Given the description of an element on the screen output the (x, y) to click on. 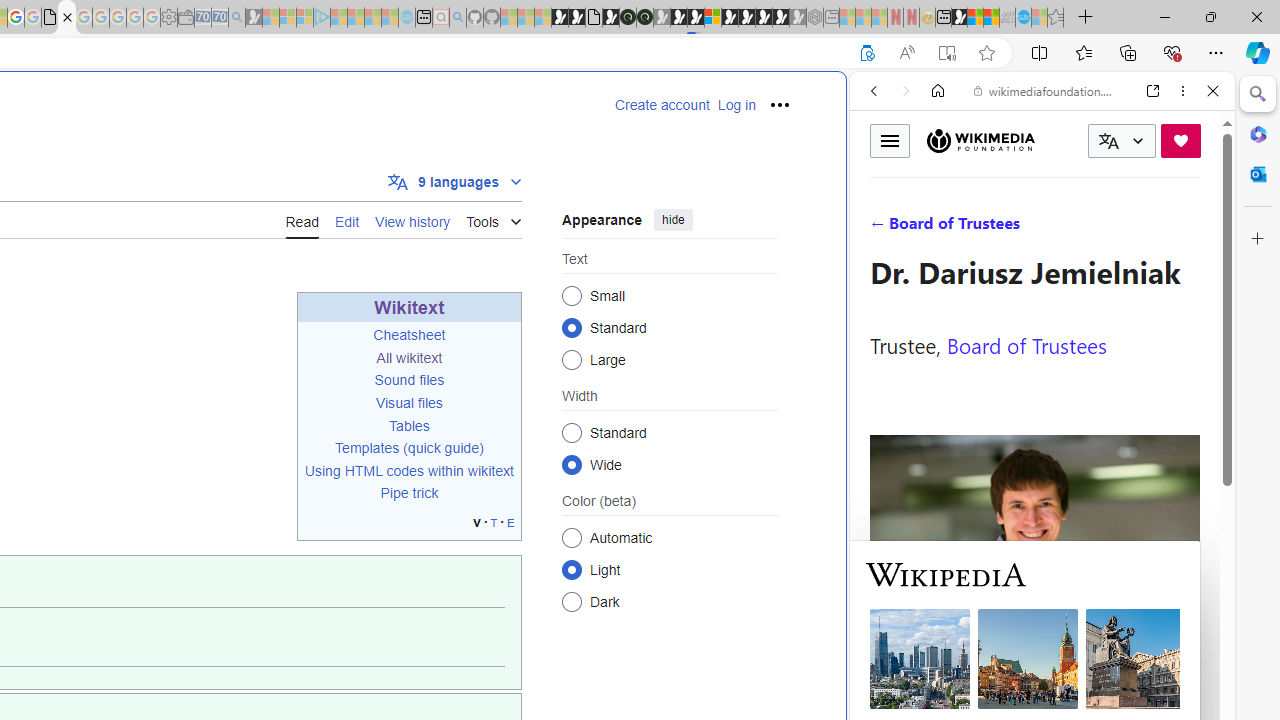
Dark (571, 601)
(quick guide) (443, 448)
